Given the description of an element on the screen output the (x, y) to click on. 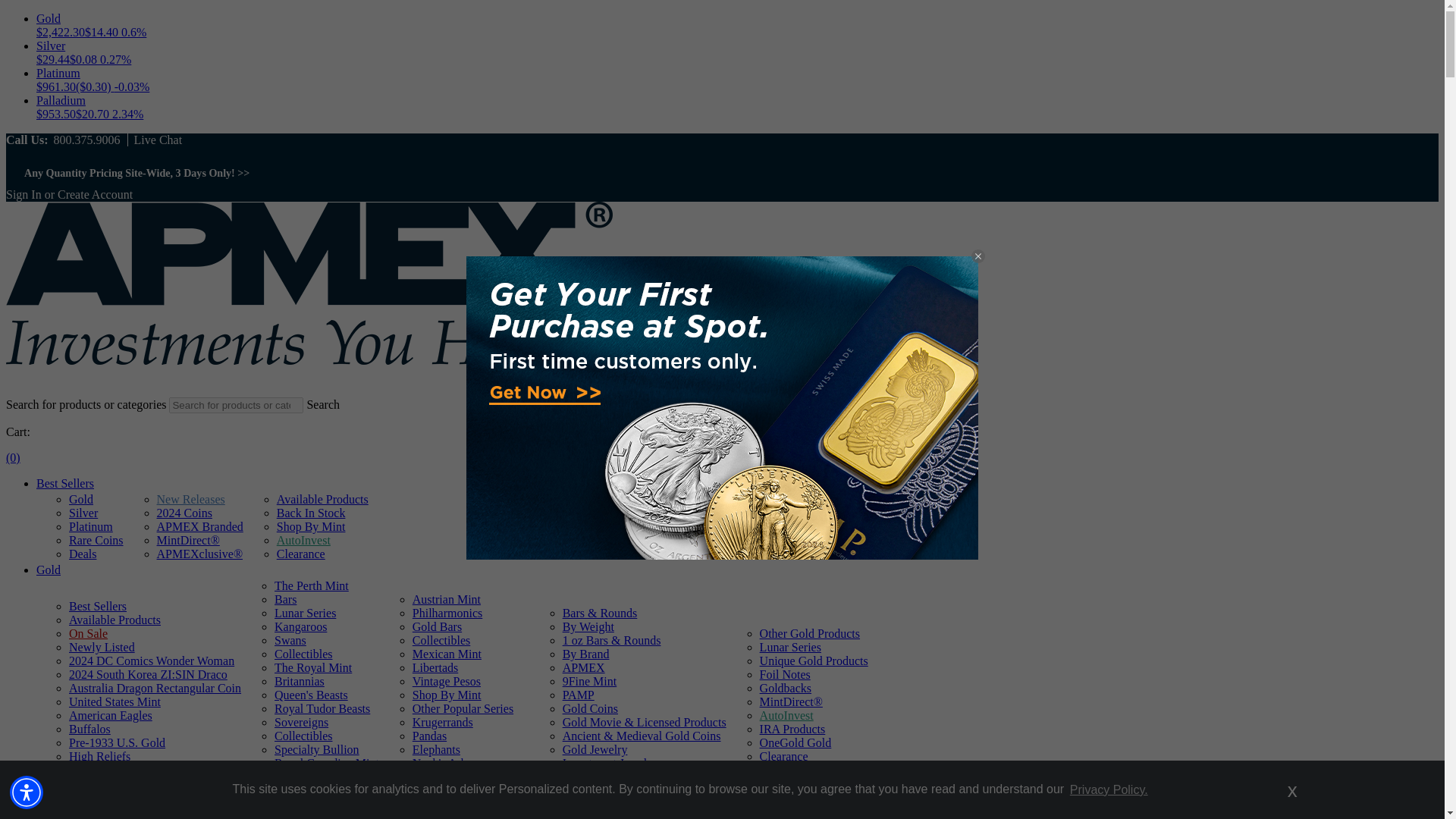
Shop By Mint (311, 526)
800.375.9006 (85, 139)
Available Products (114, 619)
Cart (12, 457)
Rare Coins (95, 540)
Create Account (95, 194)
Gold (48, 569)
New Releases (191, 499)
2024 South Korea ZI:SIN Draco (147, 674)
Clearance (300, 553)
Available Products (322, 499)
Login (23, 194)
Platinum (90, 526)
Sign In (23, 194)
Accessibility Menu (26, 792)
